Given the description of an element on the screen output the (x, y) to click on. 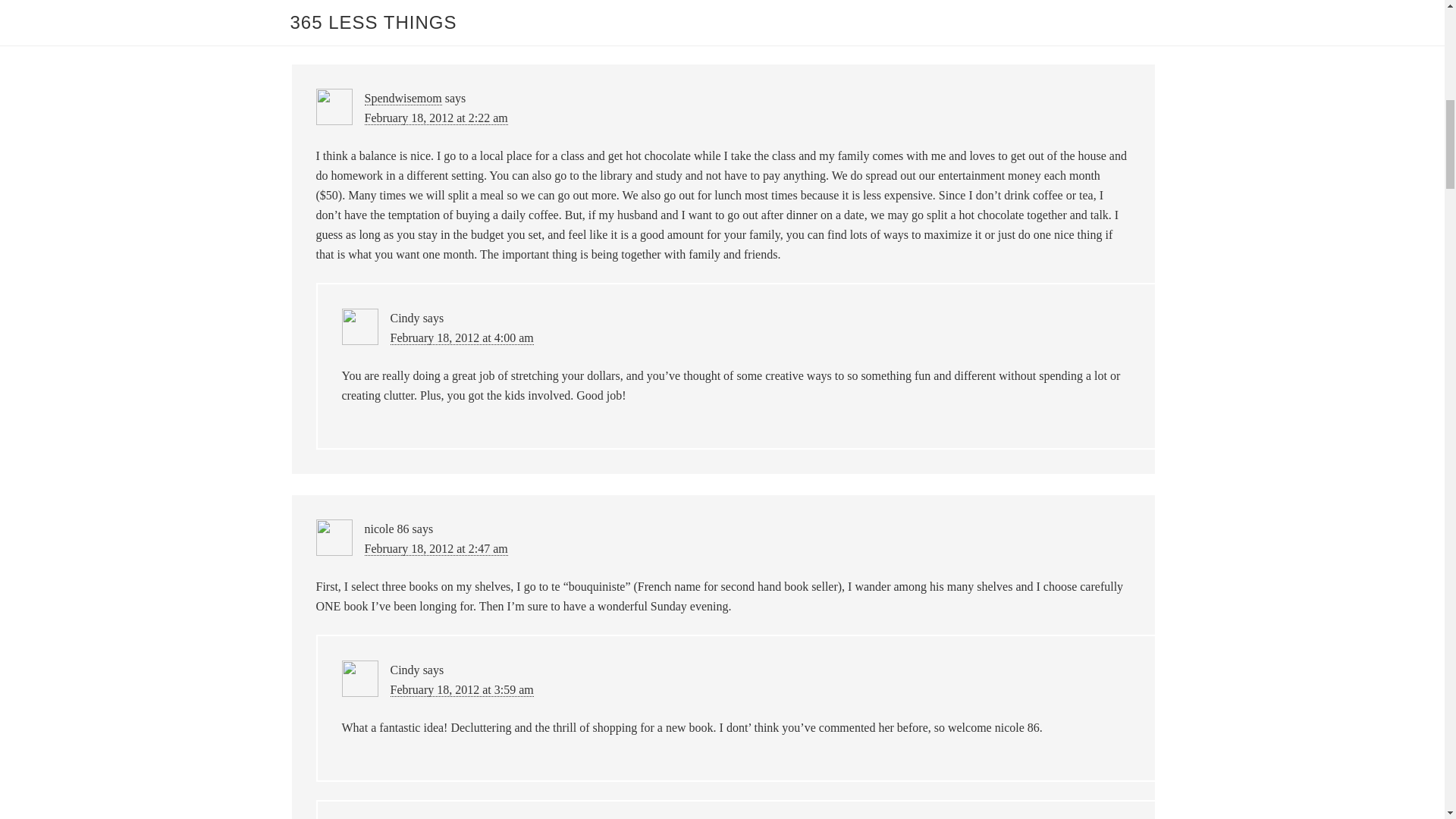
Spendwisemom (402, 98)
February 18, 2012 at 2:22 am (435, 118)
February 18, 2012 at 3:59 am (461, 689)
February 18, 2012 at 4:00 am (461, 337)
February 18, 2012 at 2:47 am (435, 549)
